Given the description of an element on the screen output the (x, y) to click on. 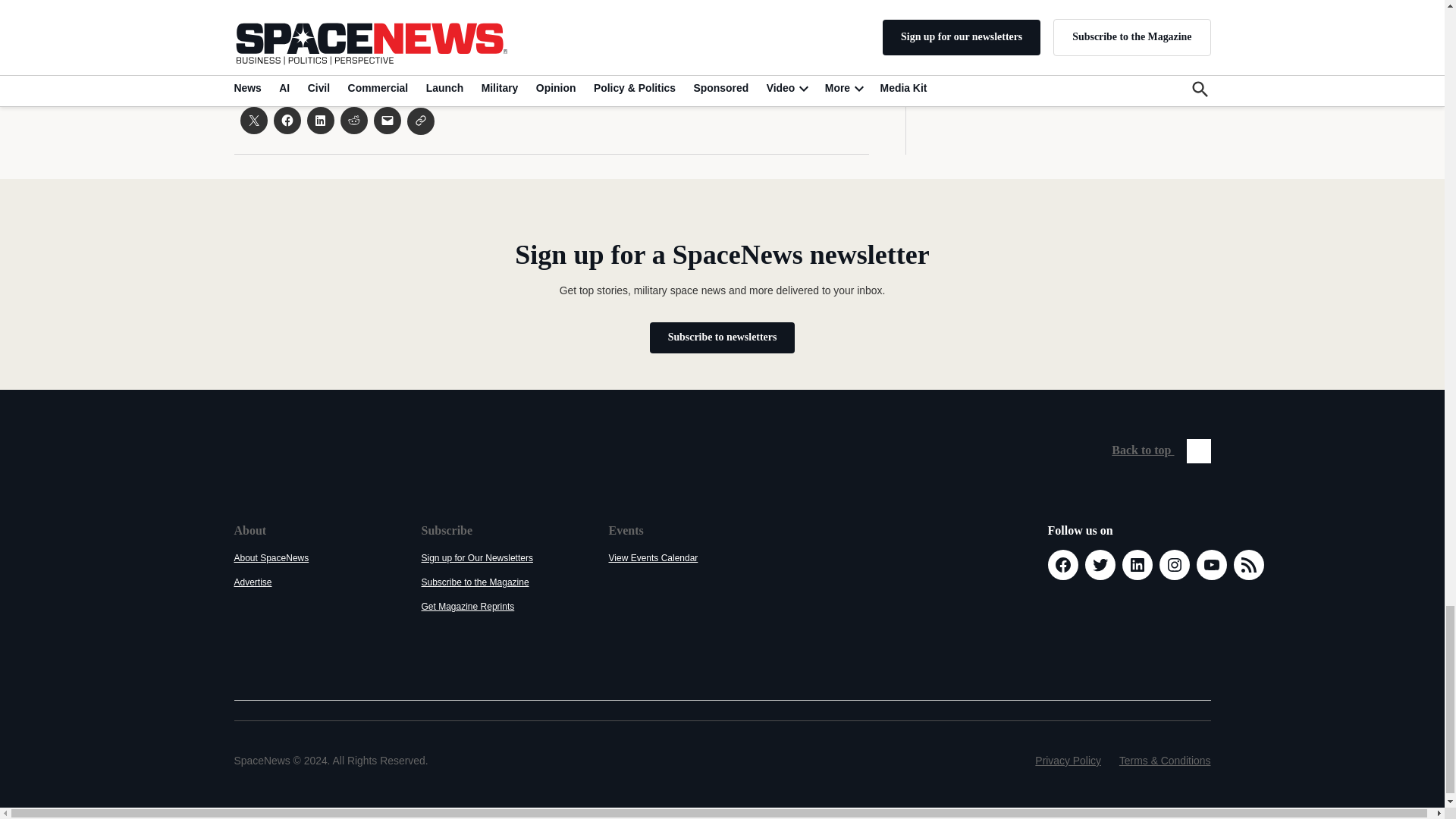
Click to share on Reddit (352, 120)
Click to share on Facebook (286, 120)
Click to share on X (253, 120)
Click to share on Clipboard (419, 121)
Click to share on LinkedIn (319, 120)
Click to email a link to a friend (386, 120)
